Given the description of an element on the screen output the (x, y) to click on. 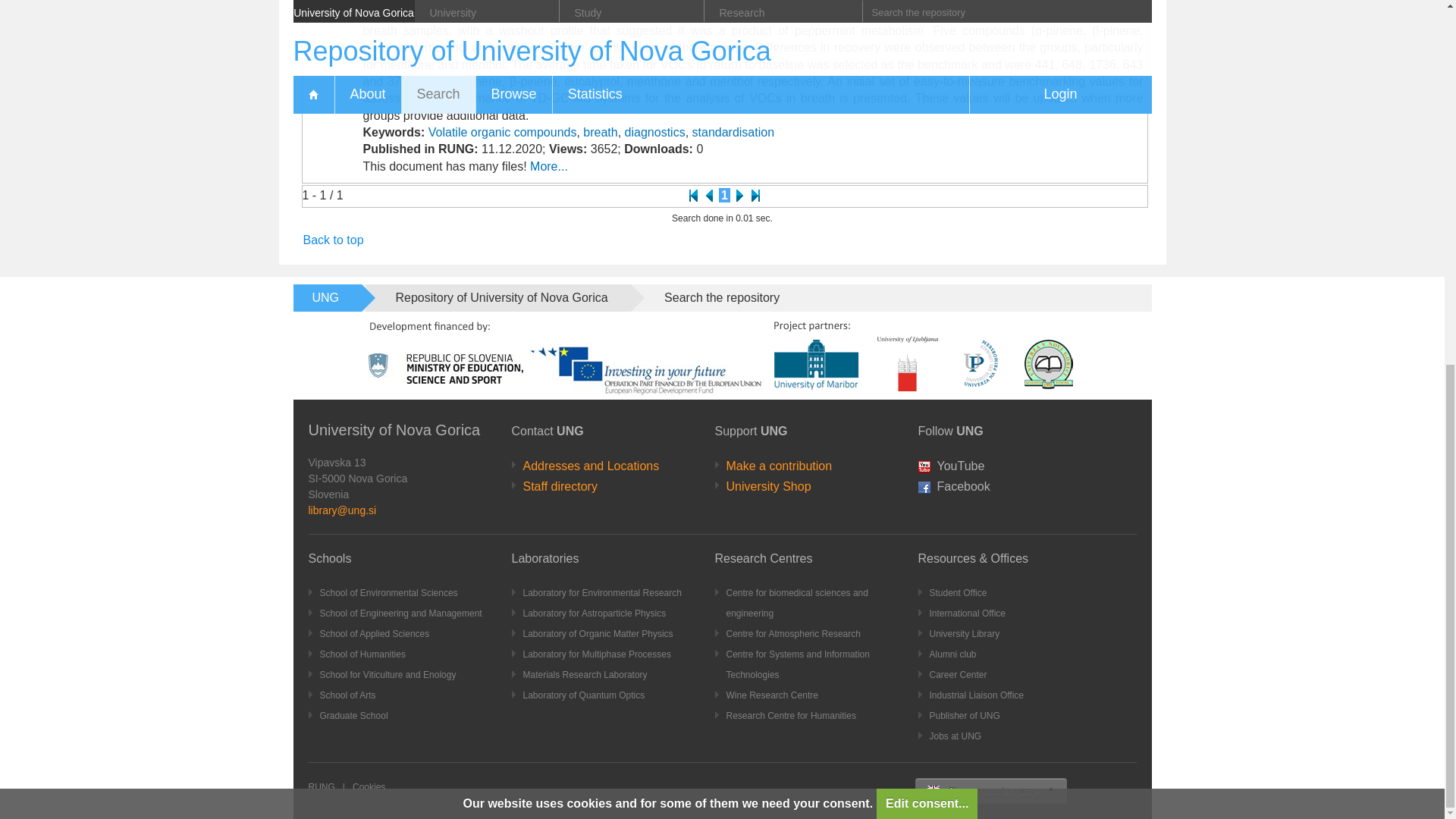
Previous page (707, 195)
Next page (740, 195)
Back to top (333, 239)
First page (692, 195)
diagnostics (654, 132)
More... (548, 165)
Edit consent... (926, 150)
Last page (755, 195)
Volatile organic compounds (502, 132)
breath (600, 132)
